Given the description of an element on the screen output the (x, y) to click on. 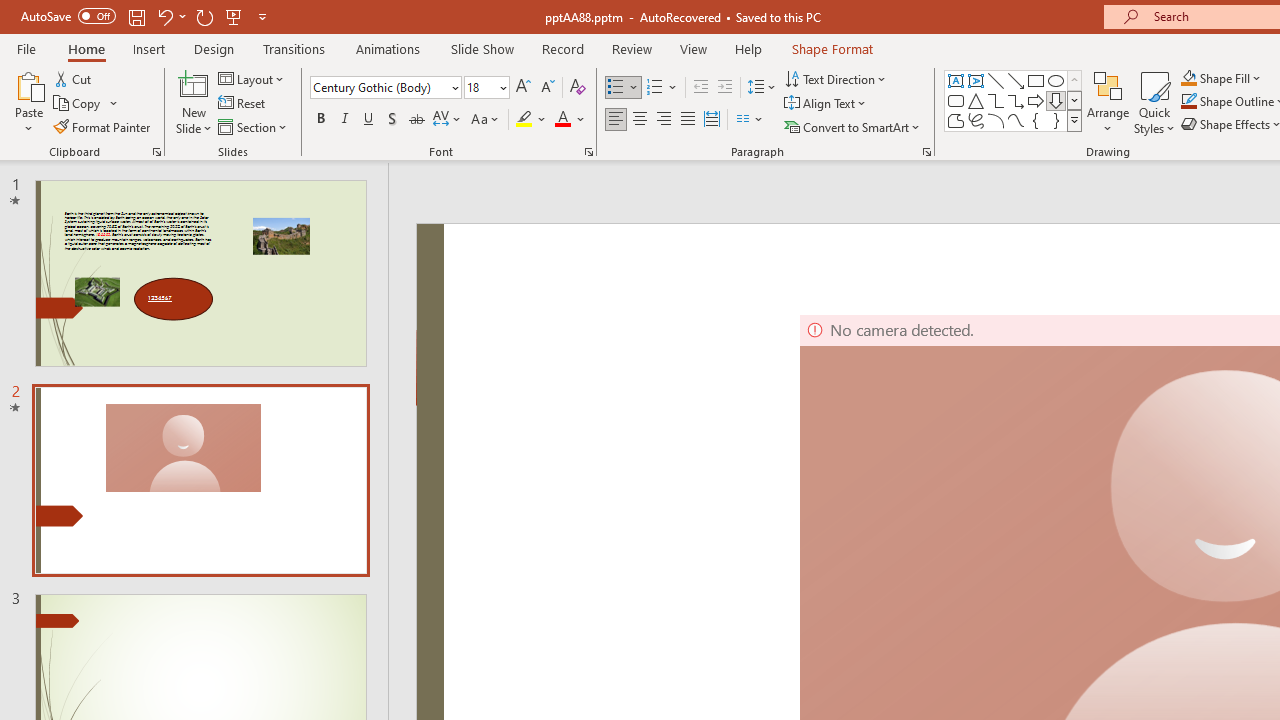
Left Brace (1035, 120)
Class: NetUIImage (1075, 120)
Right Brace (1055, 120)
Open (502, 87)
Bullets (616, 87)
Slide (200, 480)
Copy (78, 103)
Numbering (661, 87)
Undo (170, 15)
Vertical Text Box (975, 80)
Line (995, 80)
Redo (204, 15)
